Given the description of an element on the screen output the (x, y) to click on. 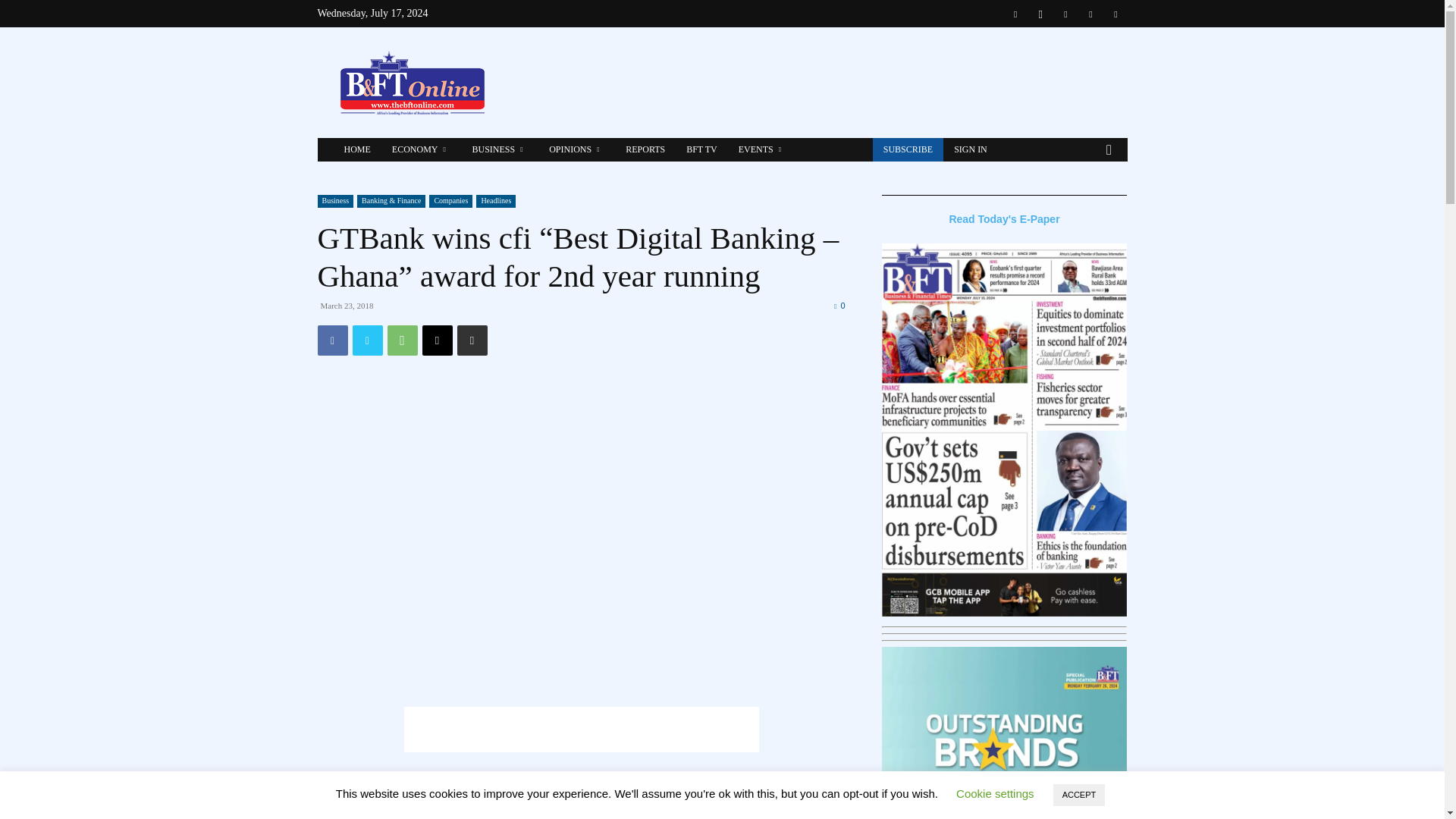
Twitter (366, 340)
WhatsApp (401, 340)
Facebook (332, 340)
